Given the description of an element on the screen output the (x, y) to click on. 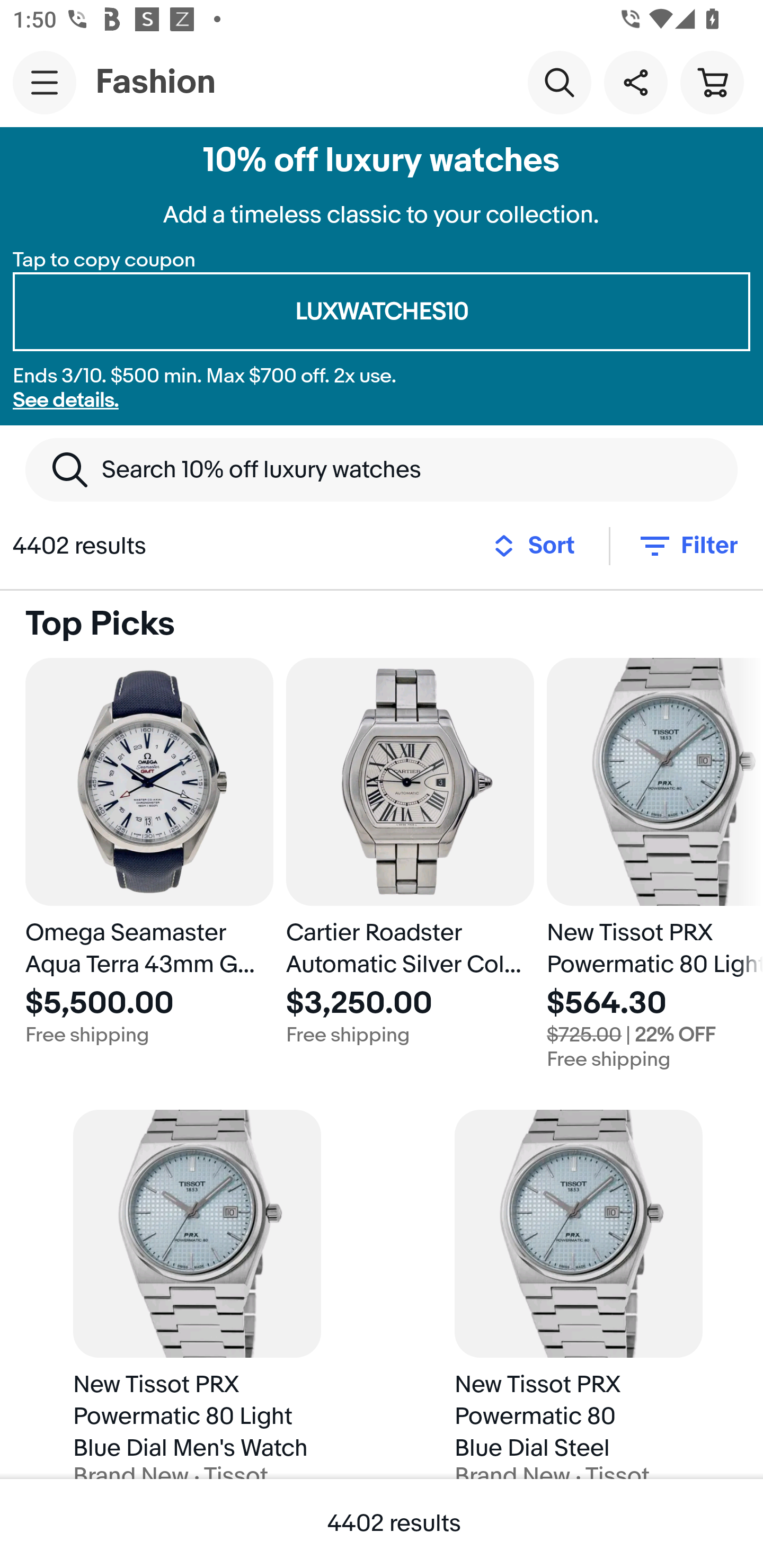
Main navigation, open (44, 82)
Search (559, 81)
Share this page (635, 81)
Cart button shopping cart (711, 81)
LUXWATCHES10 (381, 311)
See details. (65, 400)
Search 10% off luxury watches (381, 469)
Sort (538, 546)
Filter (686, 546)
